Given the description of an element on the screen output the (x, y) to click on. 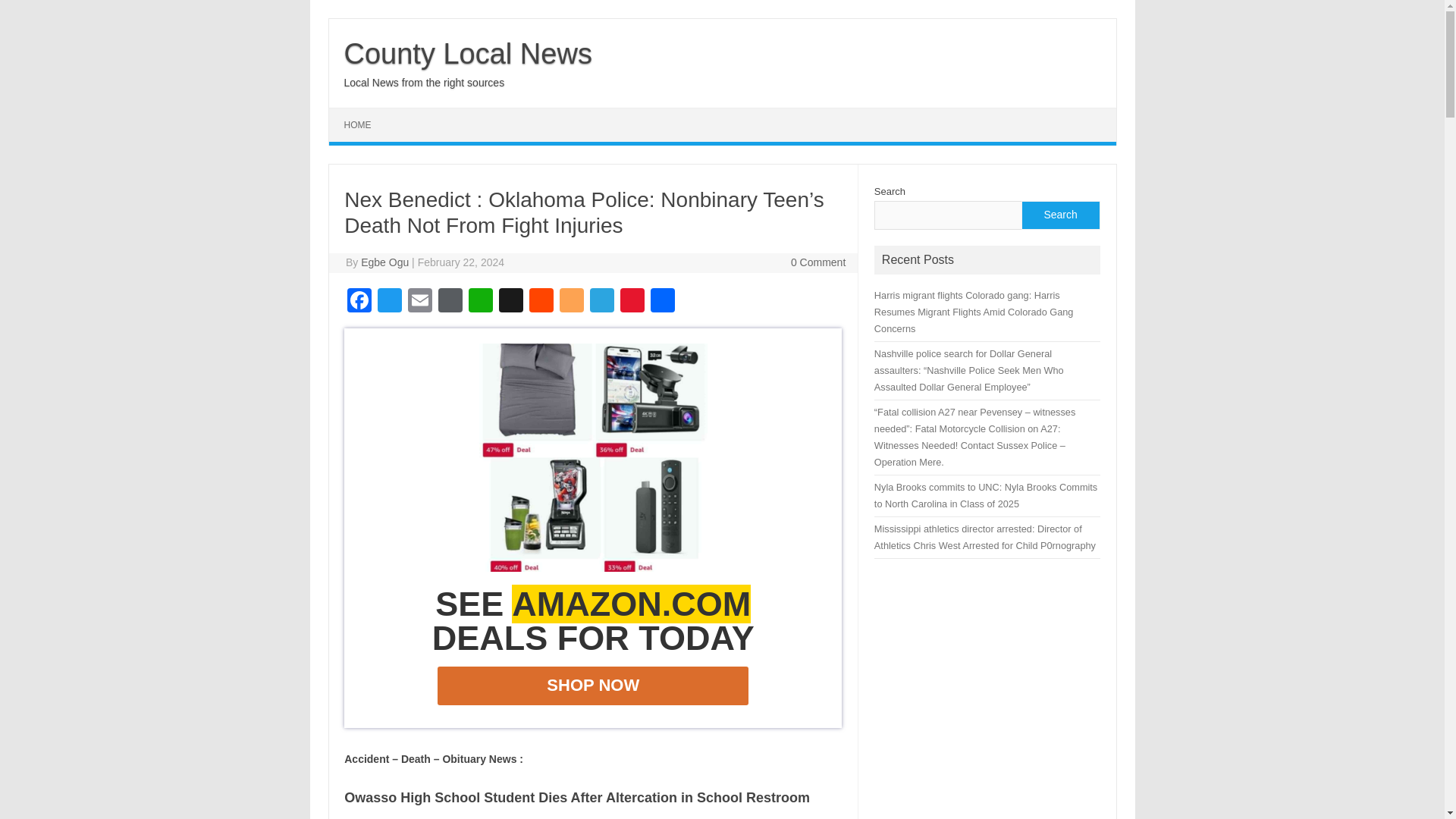
Telegram (601, 302)
Twitter (389, 302)
Facebook (358, 302)
Egbe Ogu (385, 262)
Blogger (571, 302)
Twitter (389, 302)
WordPress (450, 302)
Digg (510, 302)
